Given the description of an element on the screen output the (x, y) to click on. 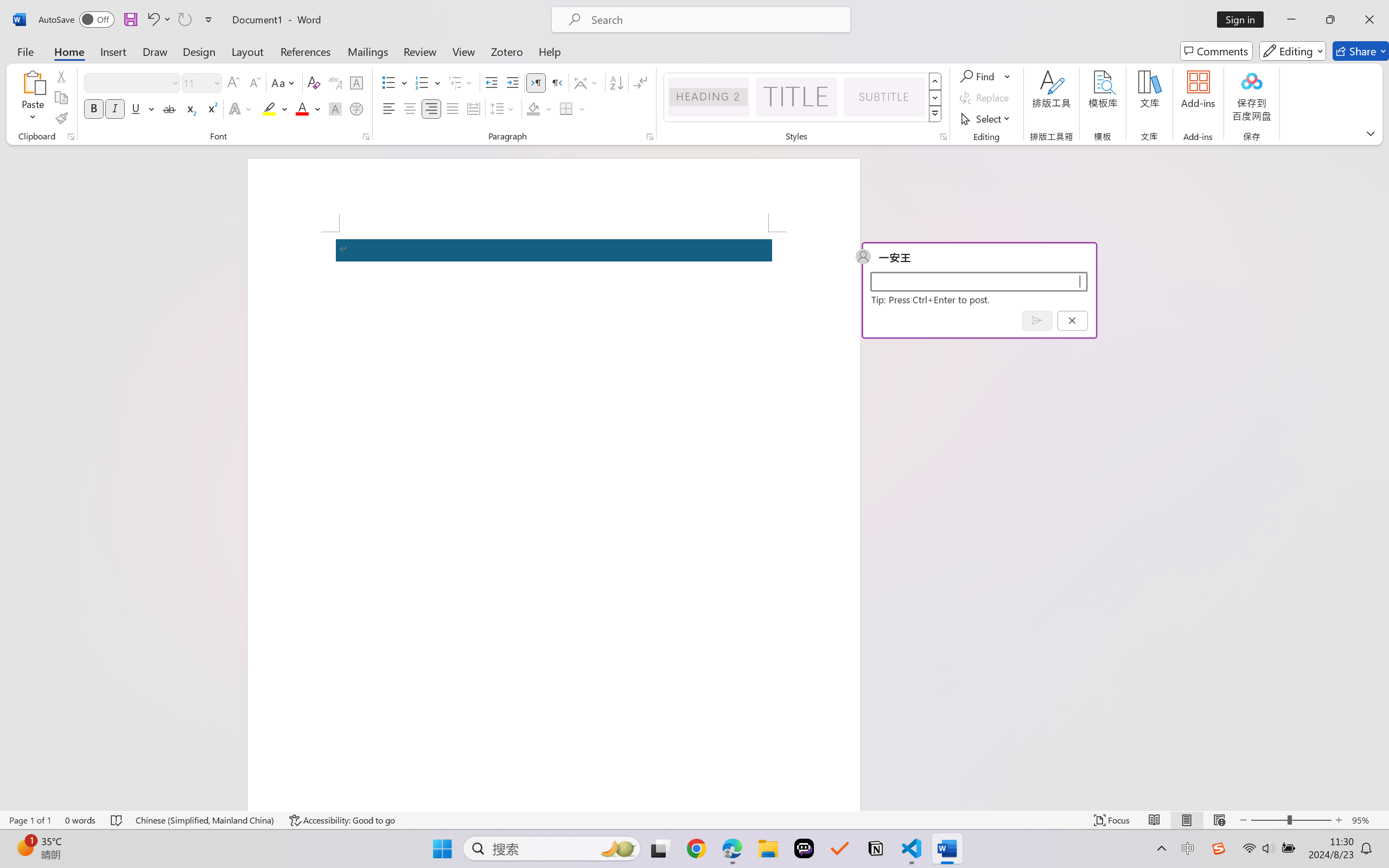
Post comment (Ctrl + Enter) (1036, 320)
Start a conversation (978, 281)
